Given the description of an element on the screen output the (x, y) to click on. 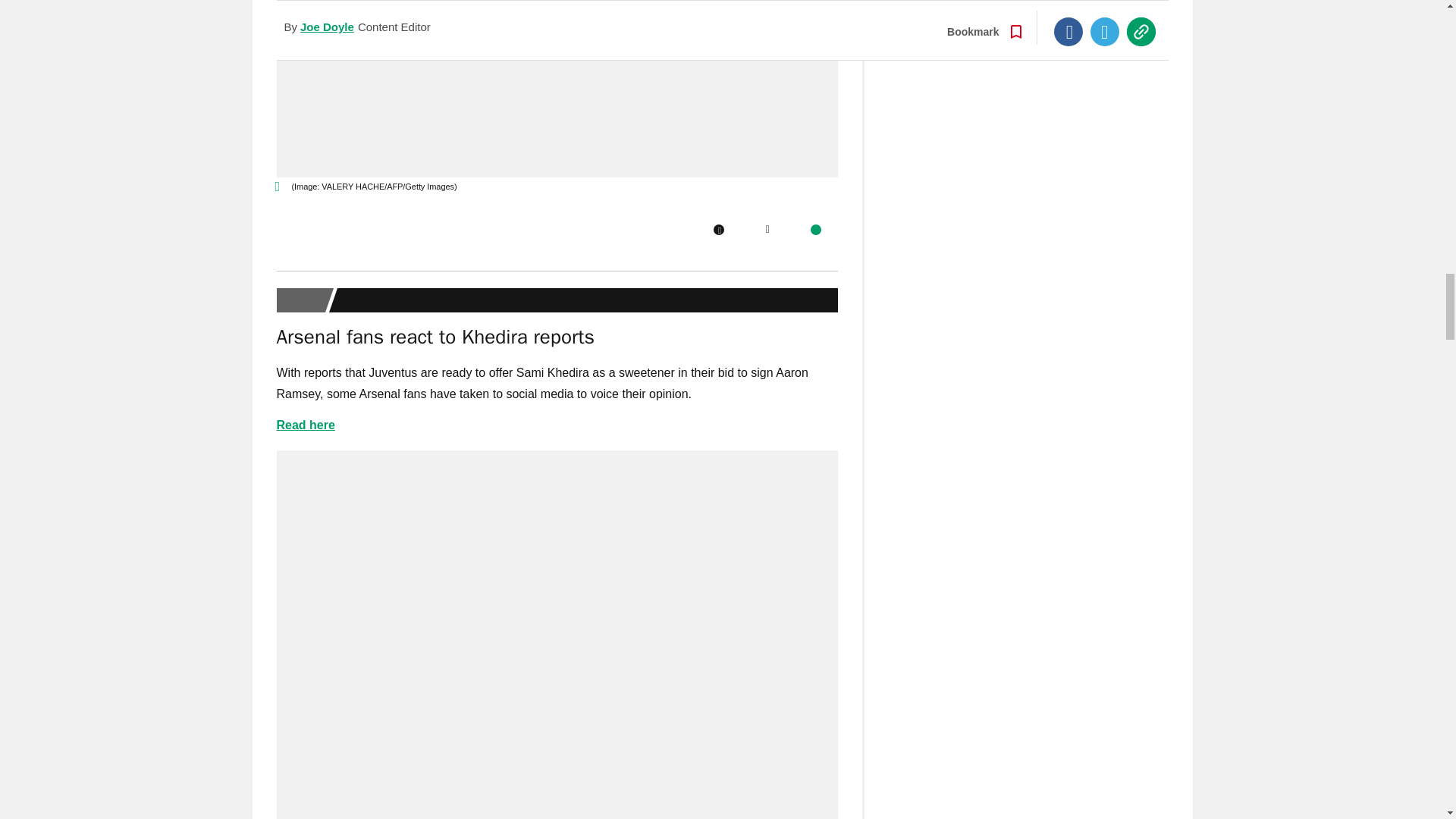
Twitter (767, 229)
Facebook (718, 229)
